Given the description of an element on the screen output the (x, y) to click on. 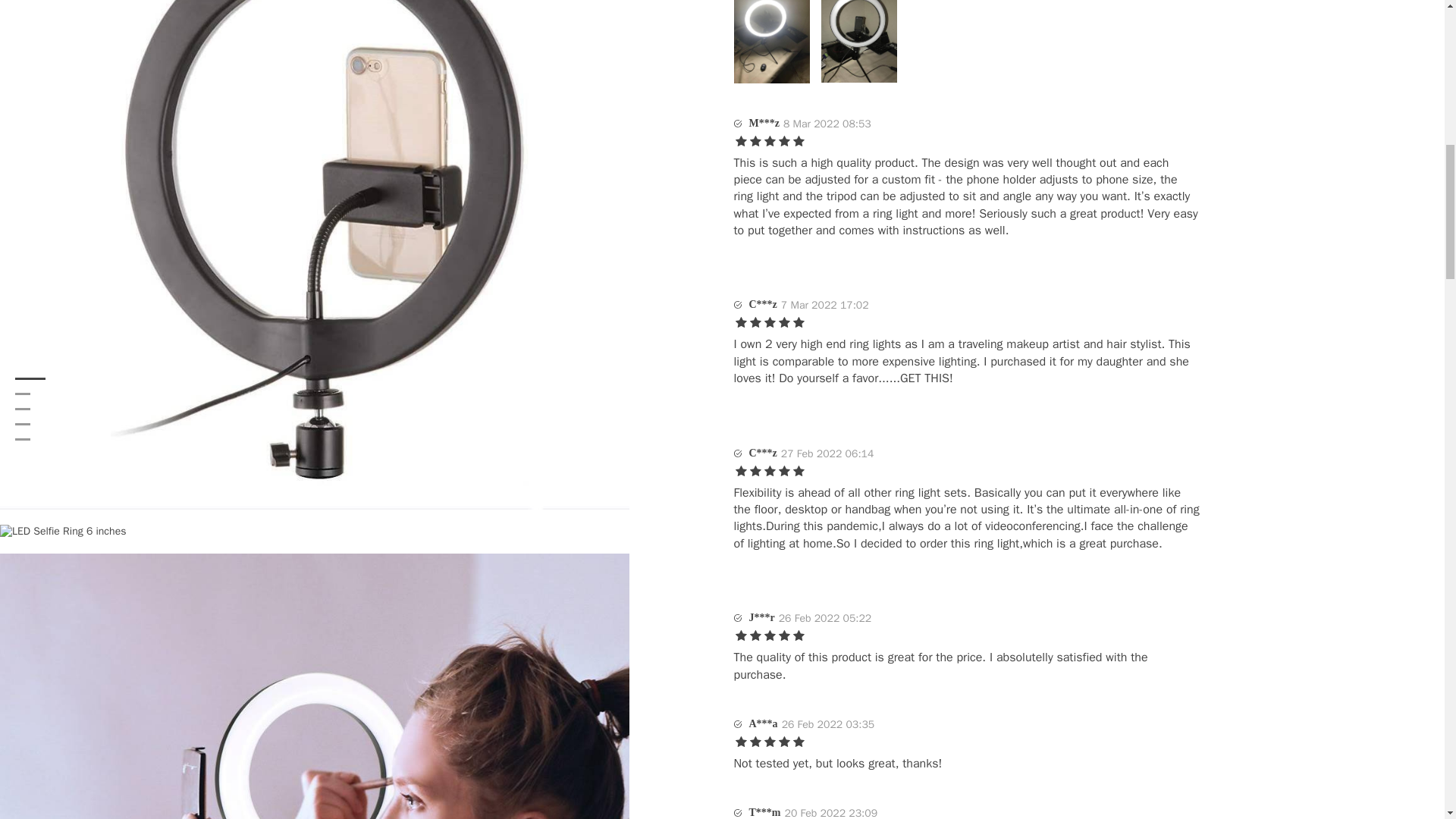
LED Selfie Ring 6 inches (62, 531)
